Given the description of an element on the screen output the (x, y) to click on. 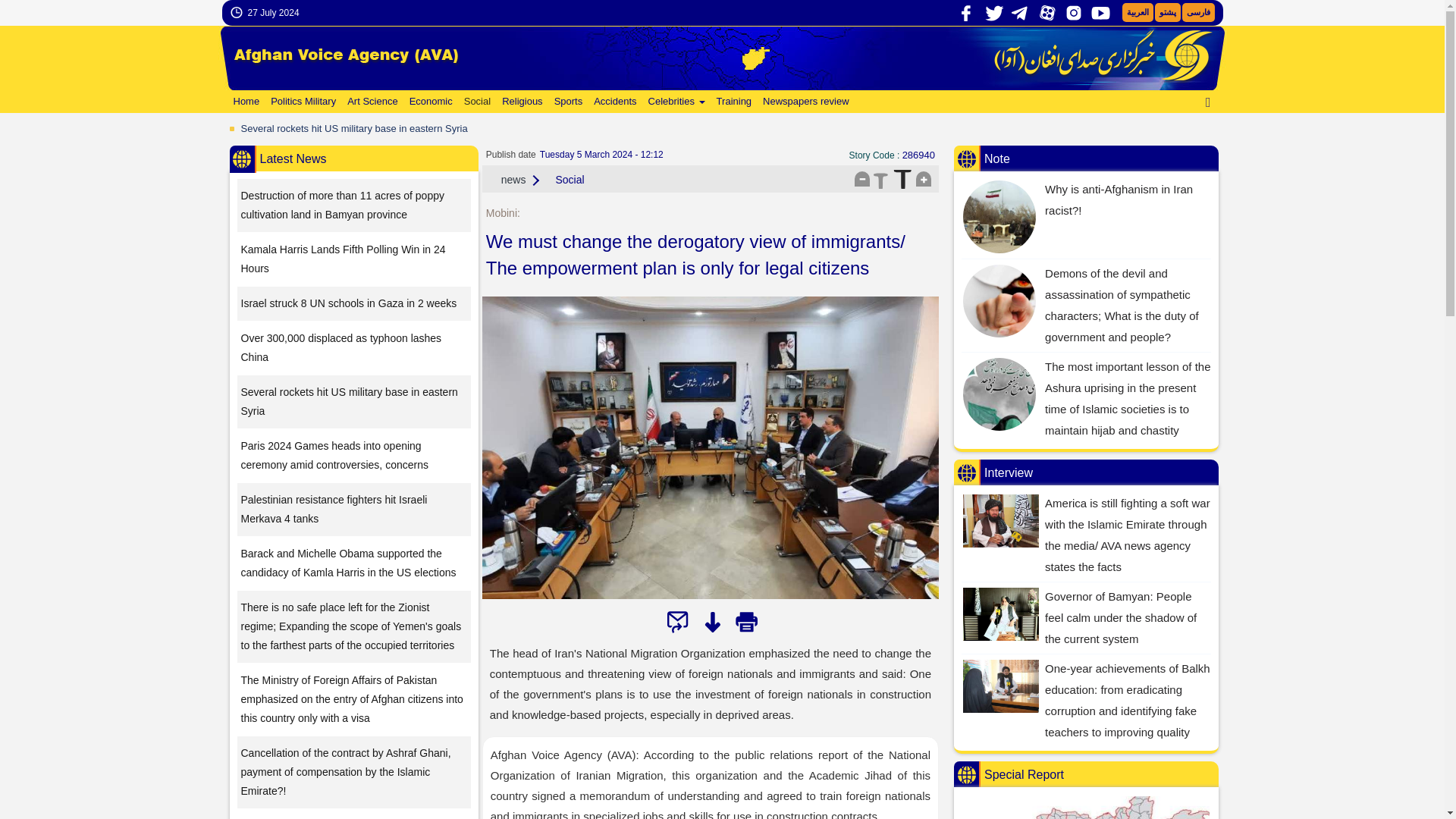
Art Science (370, 101)
Politics Military (301, 101)
Accidents (613, 101)
Several rockets hit US military base in eastern Syria (354, 128)
Economic (429, 101)
Social (476, 101)
Send to a Friend (678, 622)
Sports (566, 101)
Religious (520, 101)
Print Edition (746, 622)
Home (244, 101)
Downloading the File (711, 622)
Celebrities (674, 101)
Training (732, 101)
Newspapers review (803, 101)
